Given the description of an element on the screen output the (x, y) to click on. 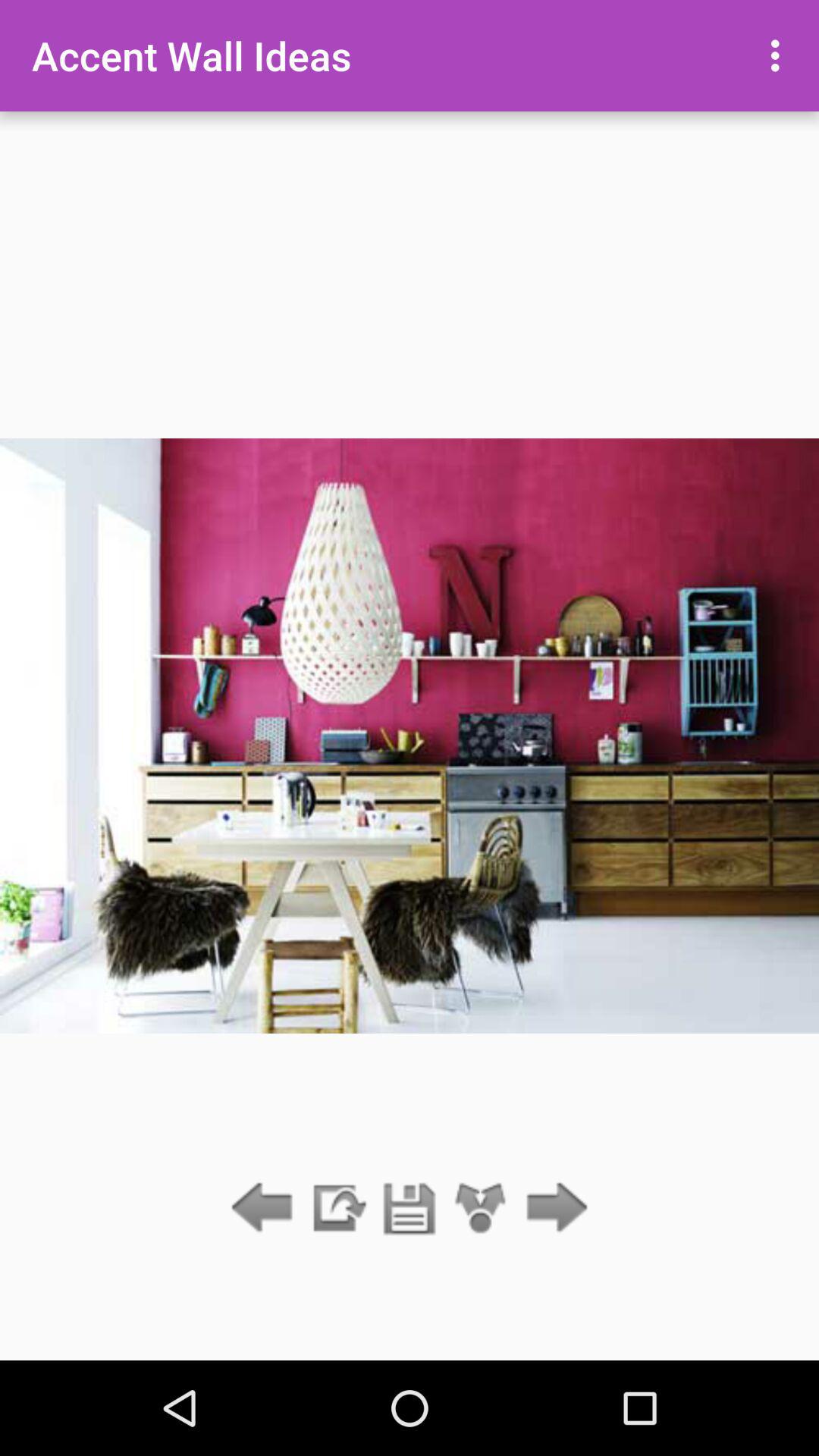
go to next (552, 1209)
